Given the description of an element on the screen output the (x, y) to click on. 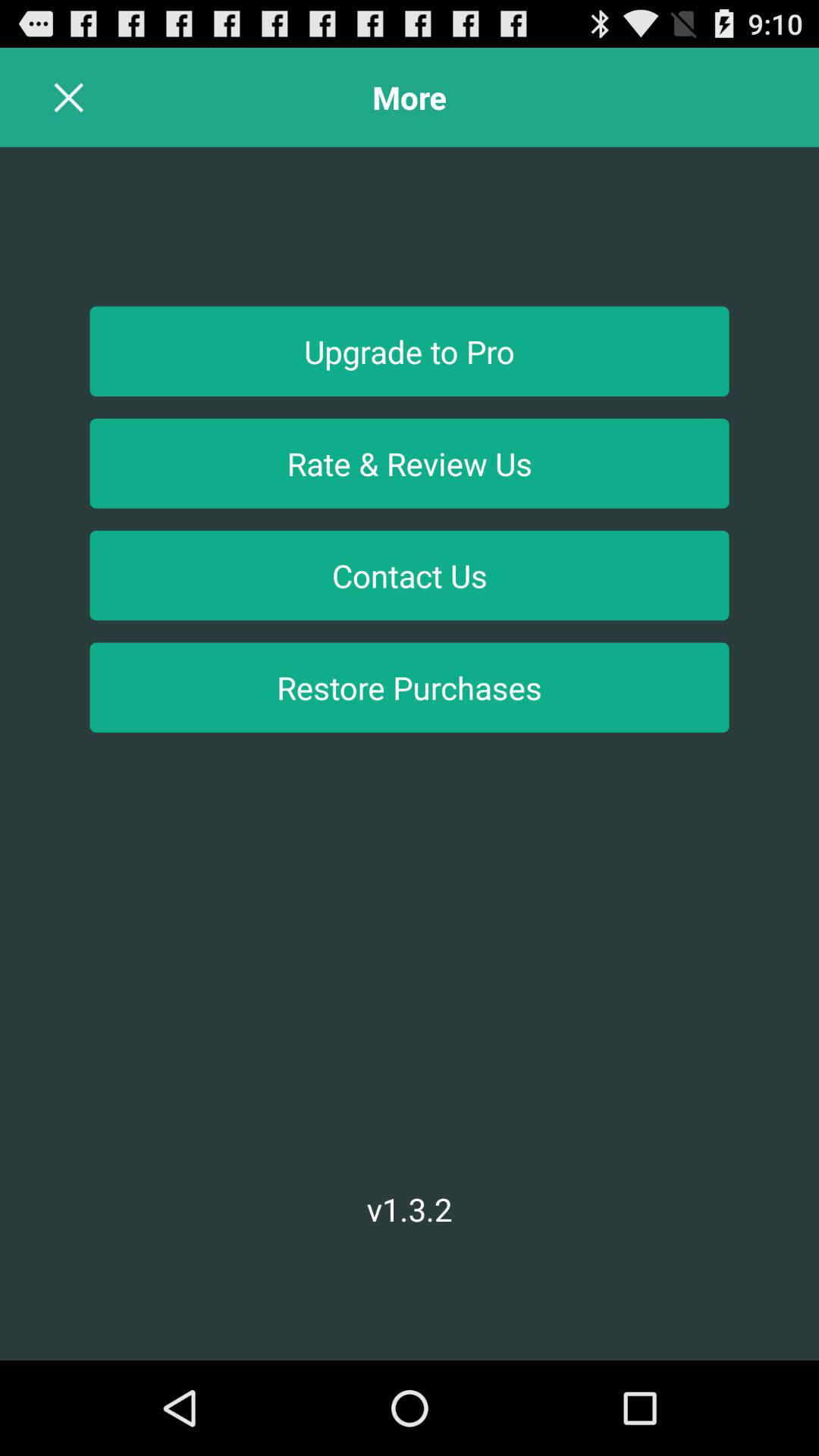
press the icon above upgrade to pro item (69, 97)
